Given the description of an element on the screen output the (x, y) to click on. 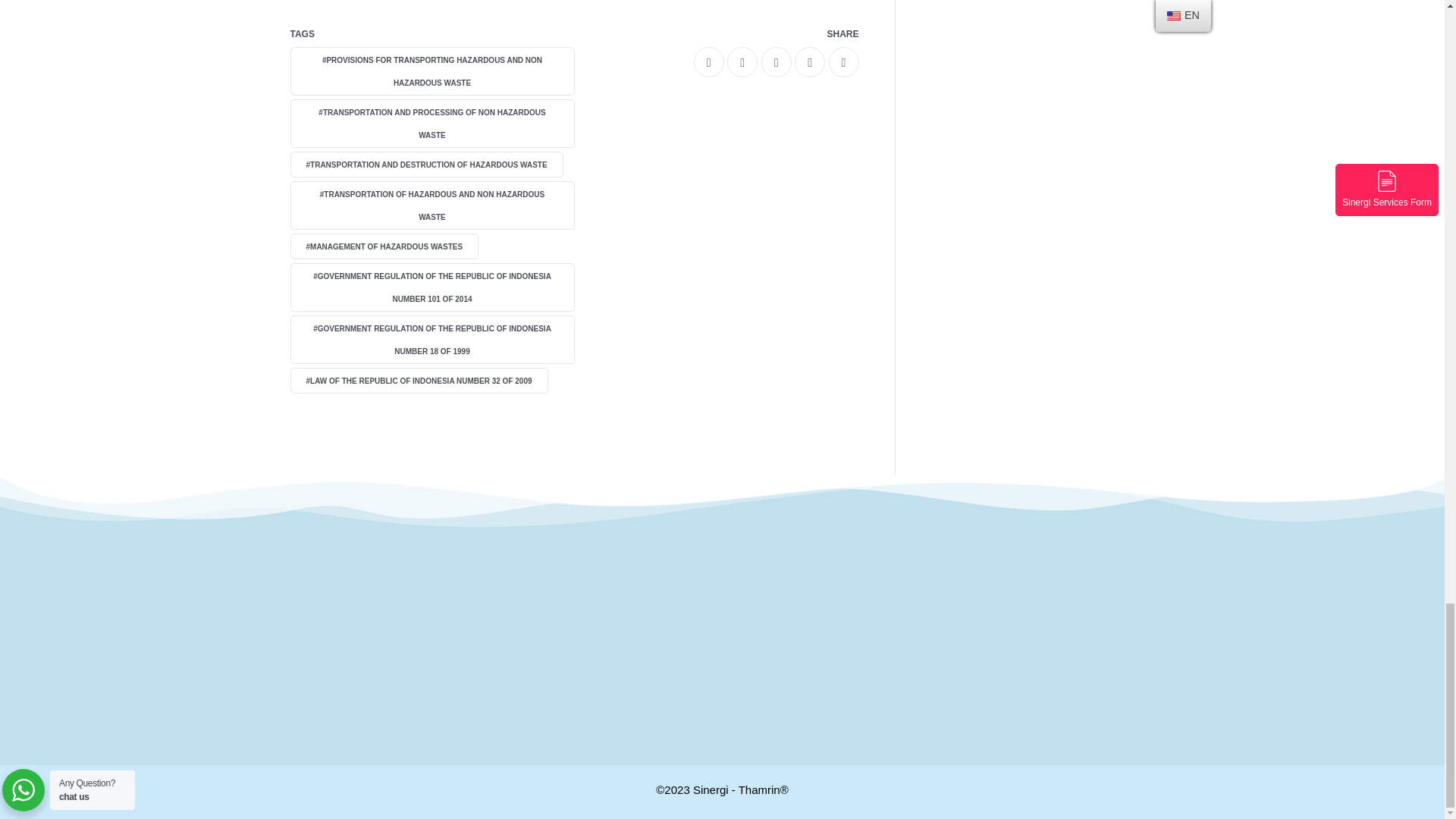
twitter (741, 60)
whatsapp (776, 60)
telegram (809, 60)
skype (843, 60)
facebook (708, 60)
